Given the description of an element on the screen output the (x, y) to click on. 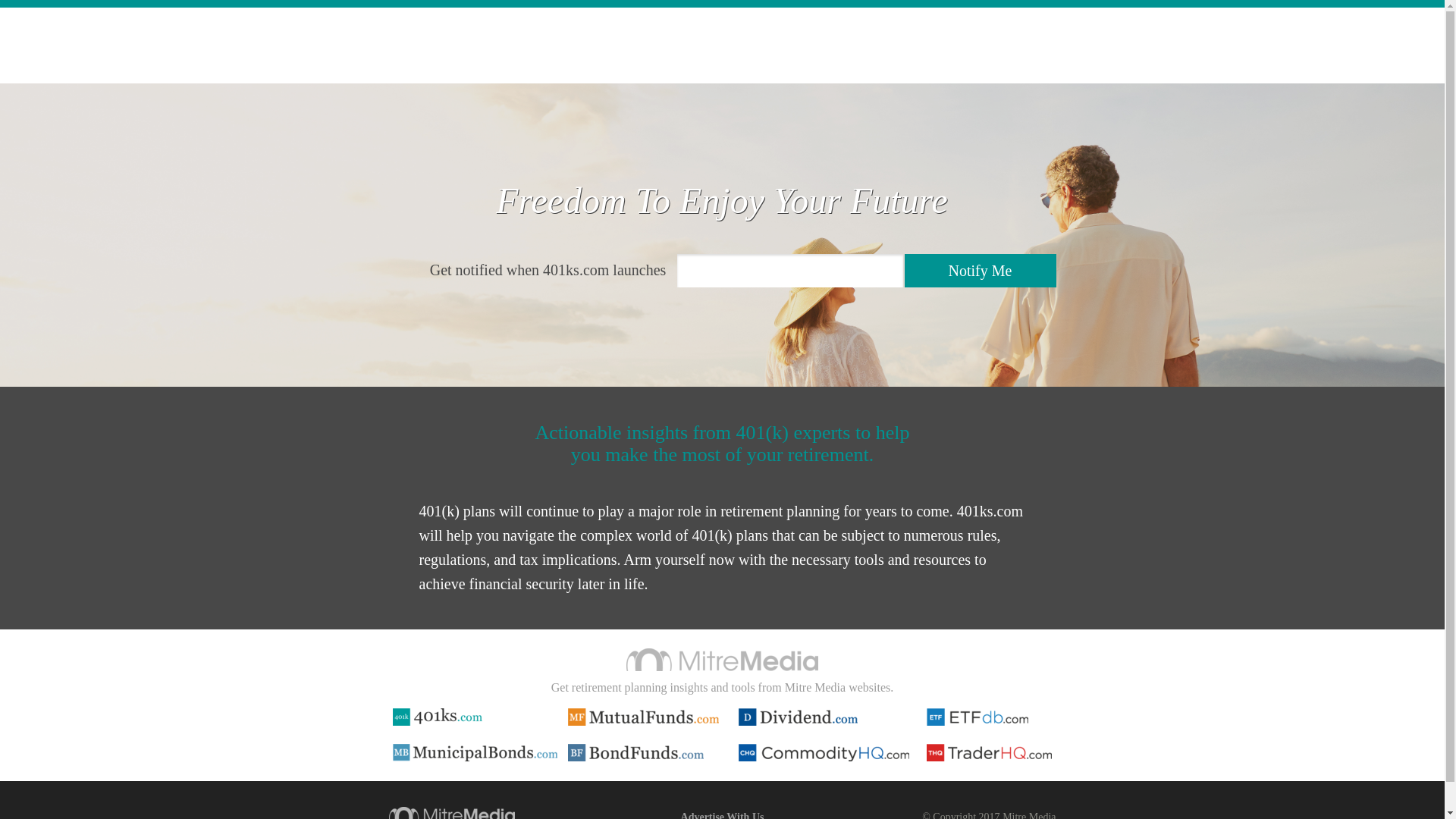
Notify Me Element type: text (979, 270)
